Given the description of an element on the screen output the (x, y) to click on. 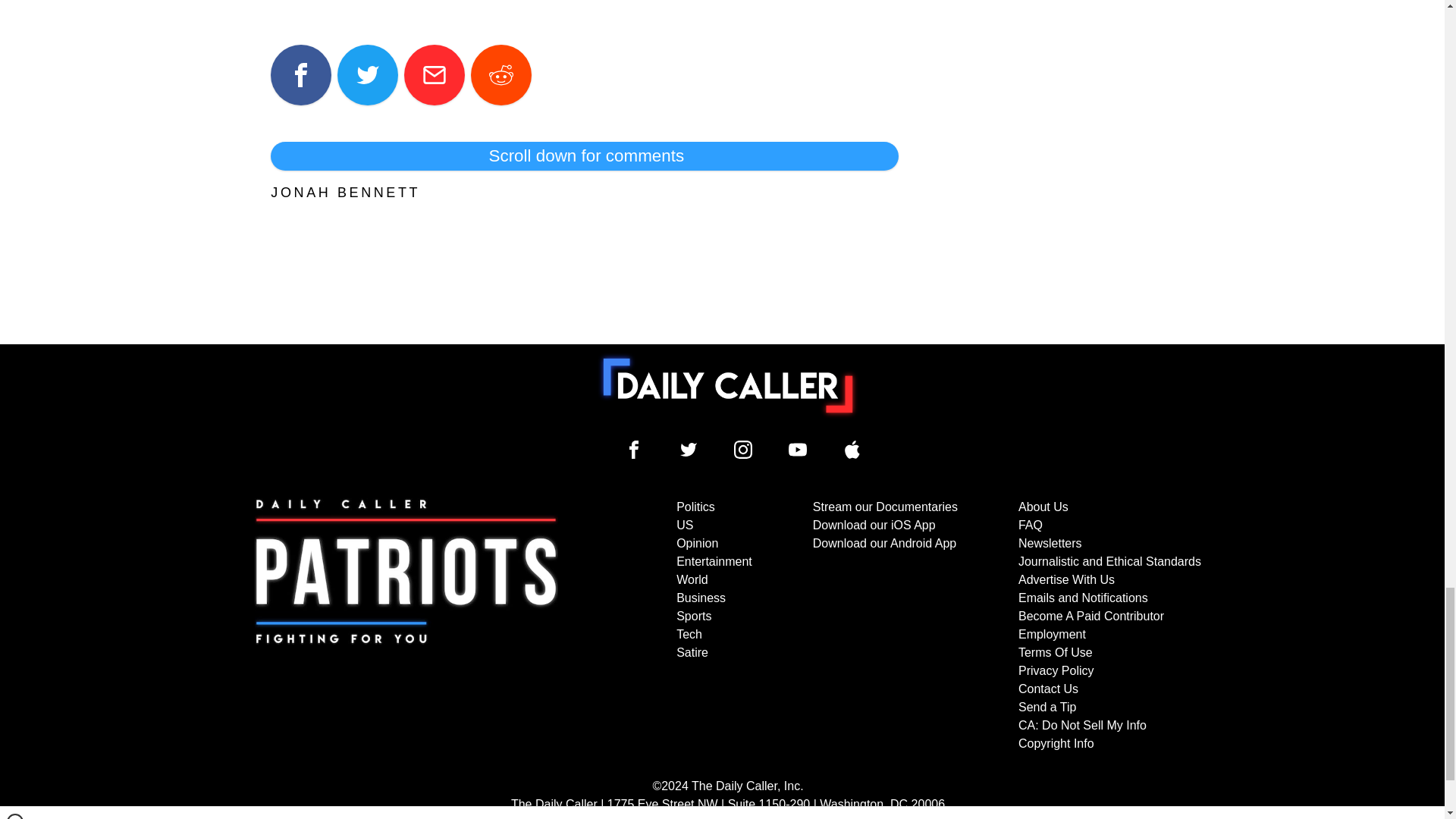
Scroll down for comments (584, 155)
To home page (727, 385)
